Given the description of an element on the screen output the (x, y) to click on. 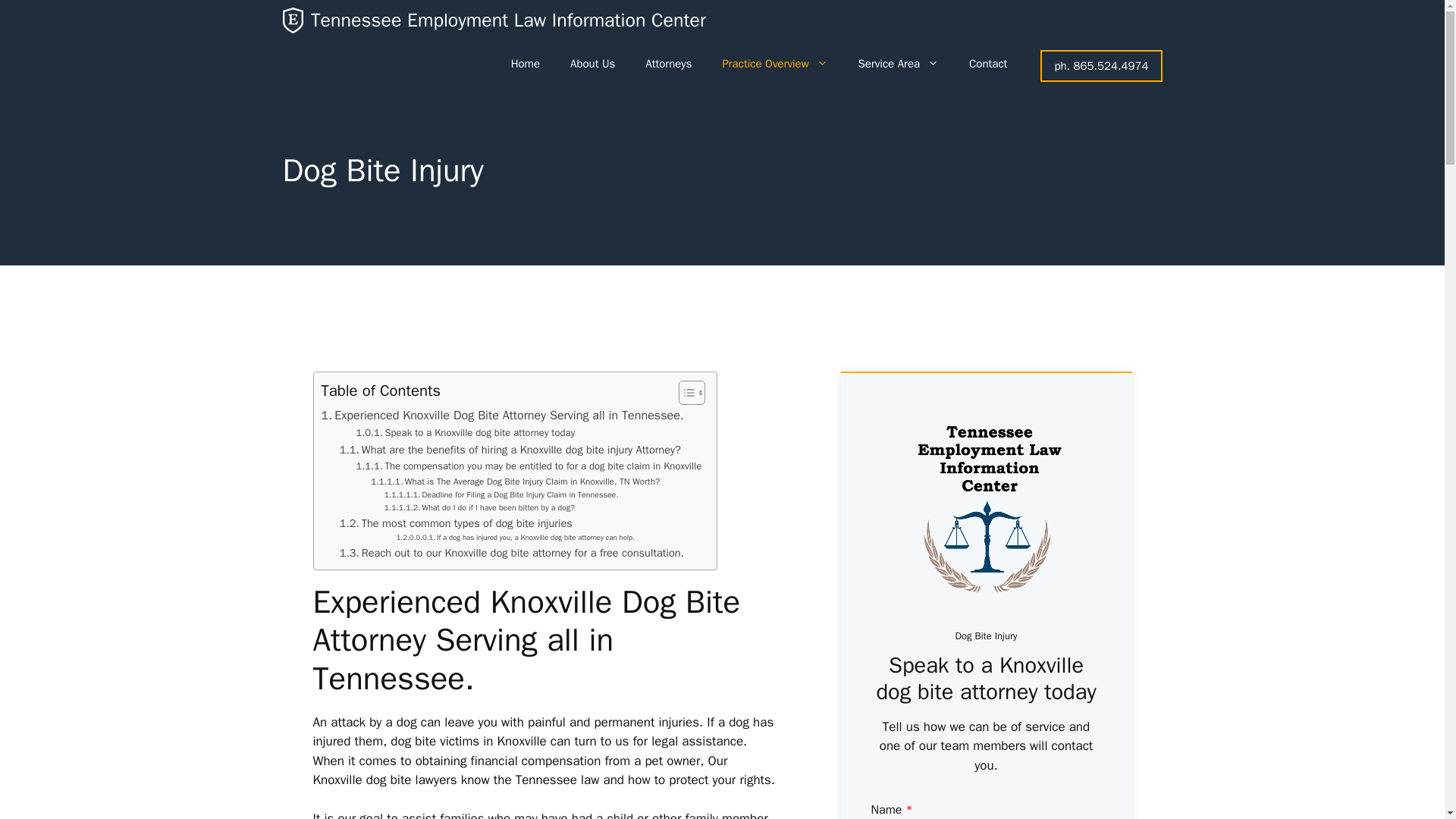
Attorneys (668, 63)
Tennessee Employment Law Information Center (292, 20)
What do I do if I have been bitten by a dog? (479, 508)
The most common types of dog bite injuries (455, 523)
Practice Overview (774, 63)
About Us (592, 63)
Tennessee Employment Law Information Center (508, 20)
Deadline for Filing a Dog Bite Injury Claim in Tennessee. (501, 495)
Home (525, 63)
Speak to a Knoxville dog bite attorney today (465, 433)
